Given the description of an element on the screen output the (x, y) to click on. 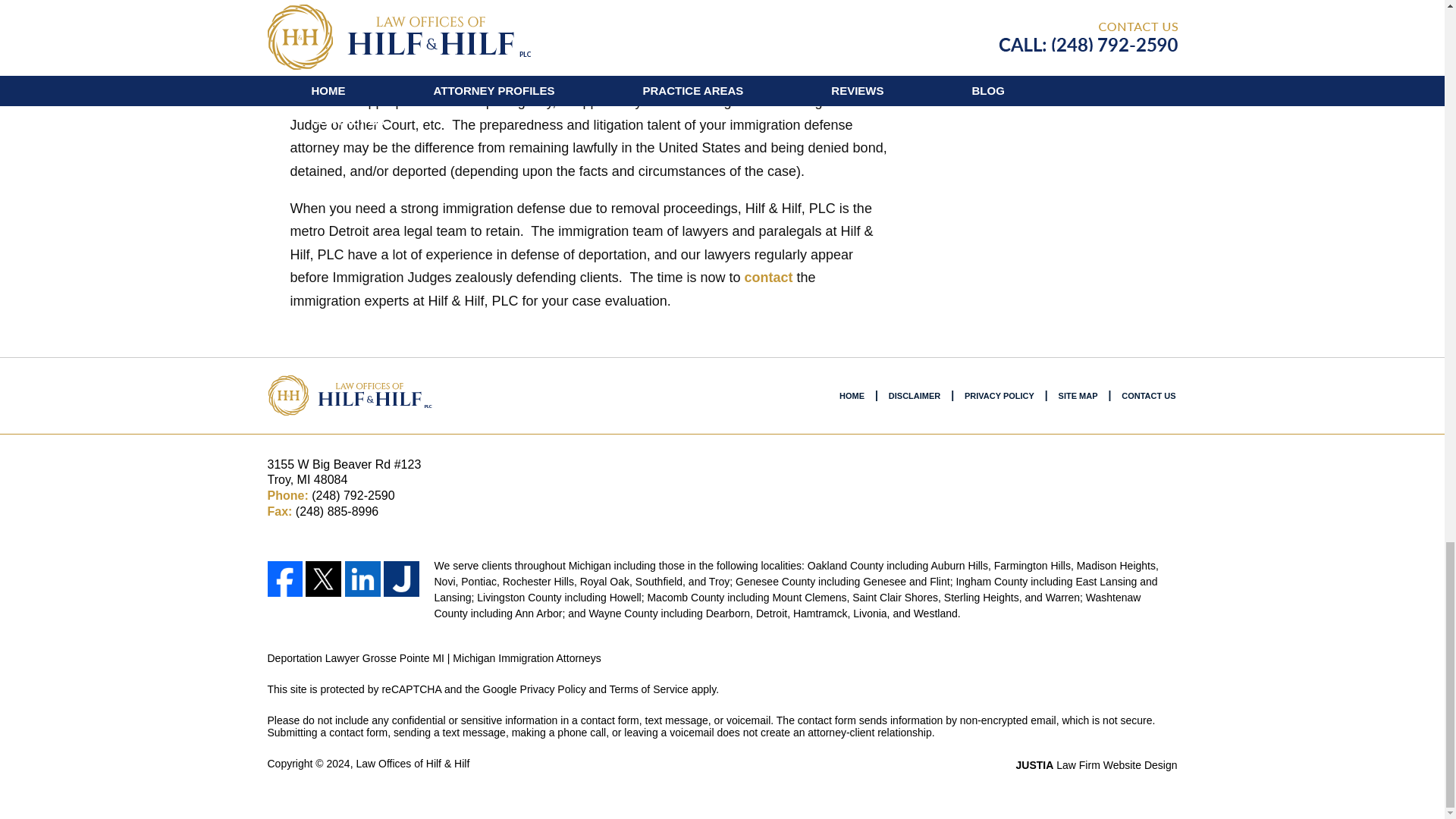
contact (768, 277)
JUSTIA Law Firm Website Design (1096, 765)
HOME (851, 395)
Privacy Policy (552, 689)
LinkedIn (361, 579)
PRIVACY POLICY (999, 395)
CONTACT US (1147, 395)
Justia (401, 579)
DISCLAIMER (913, 395)
Terms of Service (649, 689)
Facebook (284, 579)
SITE MAP (1078, 395)
Twitter (323, 579)
